Given the description of an element on the screen output the (x, y) to click on. 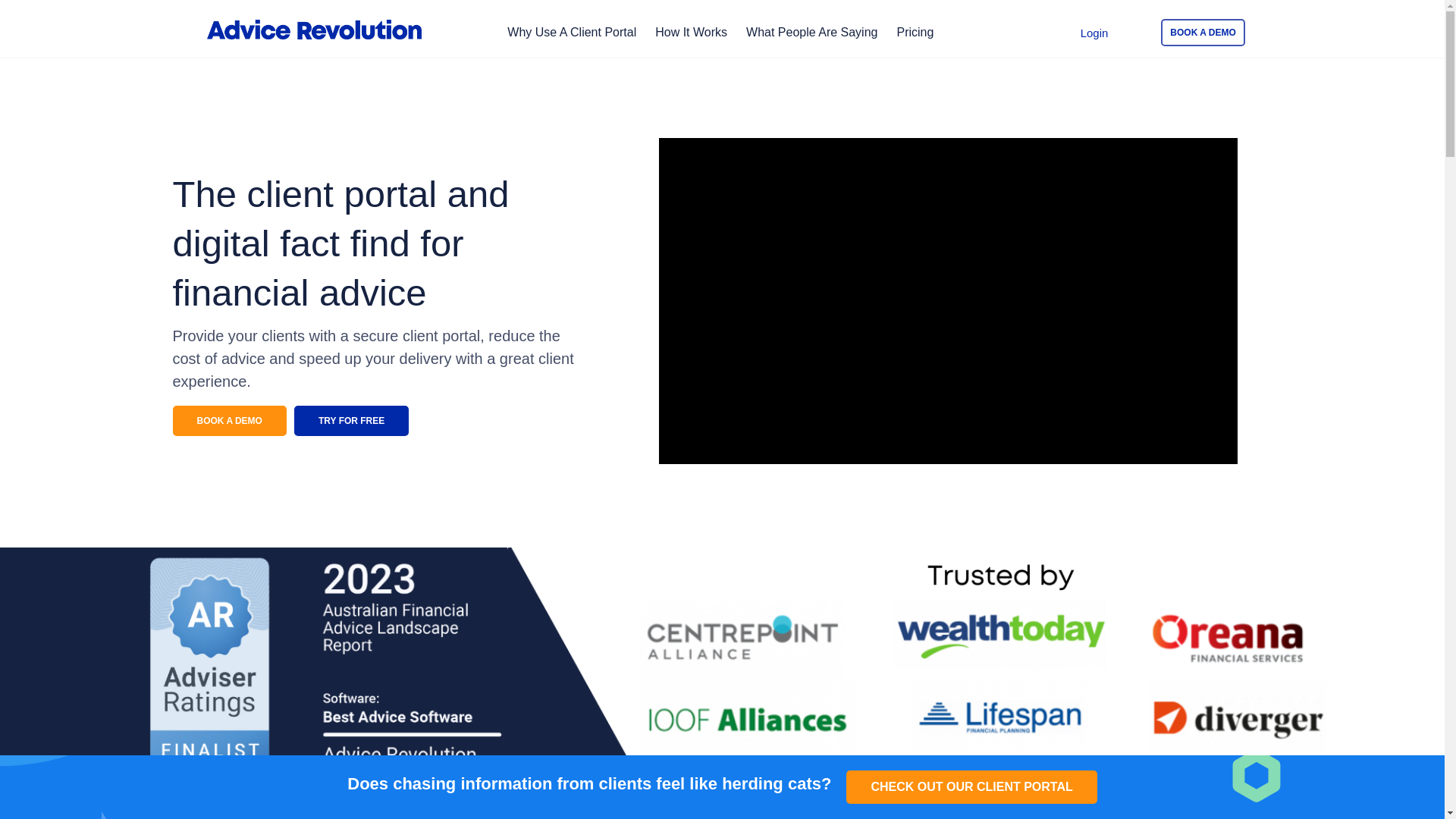
What People Are Saying (811, 32)
How It Works (690, 32)
CHECK OUT OUR CLIENT PORTAL (970, 786)
TRY FOR FREE (351, 420)
BOOK A DEMO (1202, 31)
BOOK A DEMO (229, 420)
Pricing (914, 32)
Login (1094, 32)
Why Use A Client Portal (571, 32)
